Given the description of an element on the screen output the (x, y) to click on. 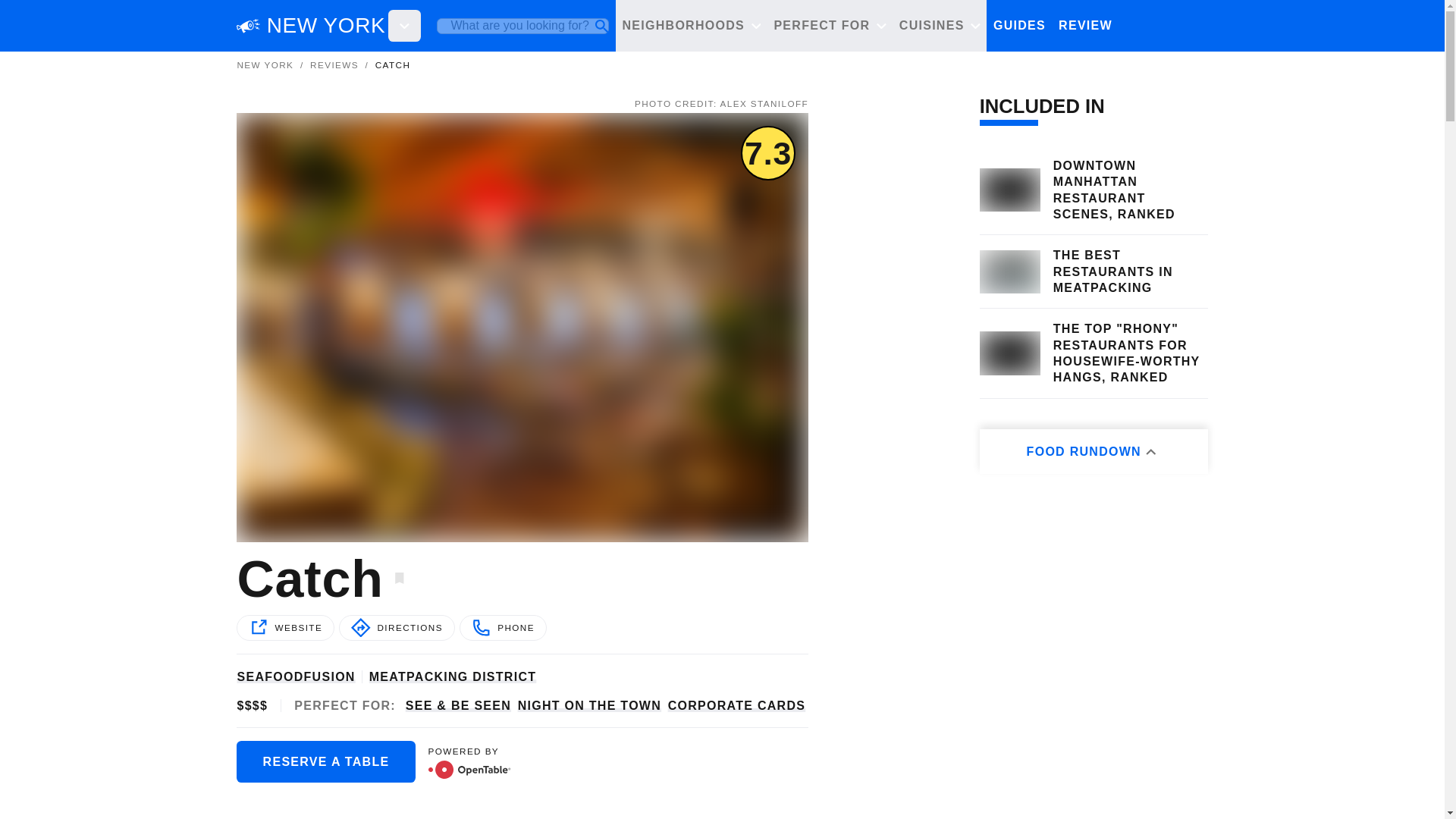
PERFECT FOR (829, 27)
REVIEWS (1090, 27)
SEAFOOD (268, 676)
NIGHT ON THE TOWN (589, 705)
FUSION (329, 676)
MEATPACKING DISTRICT (453, 676)
What are you looking for? (522, 26)
NEW YORK (264, 64)
DIRECTIONS (396, 626)
NEIGHBORHOODS (691, 27)
